Given the description of an element on the screen output the (x, y) to click on. 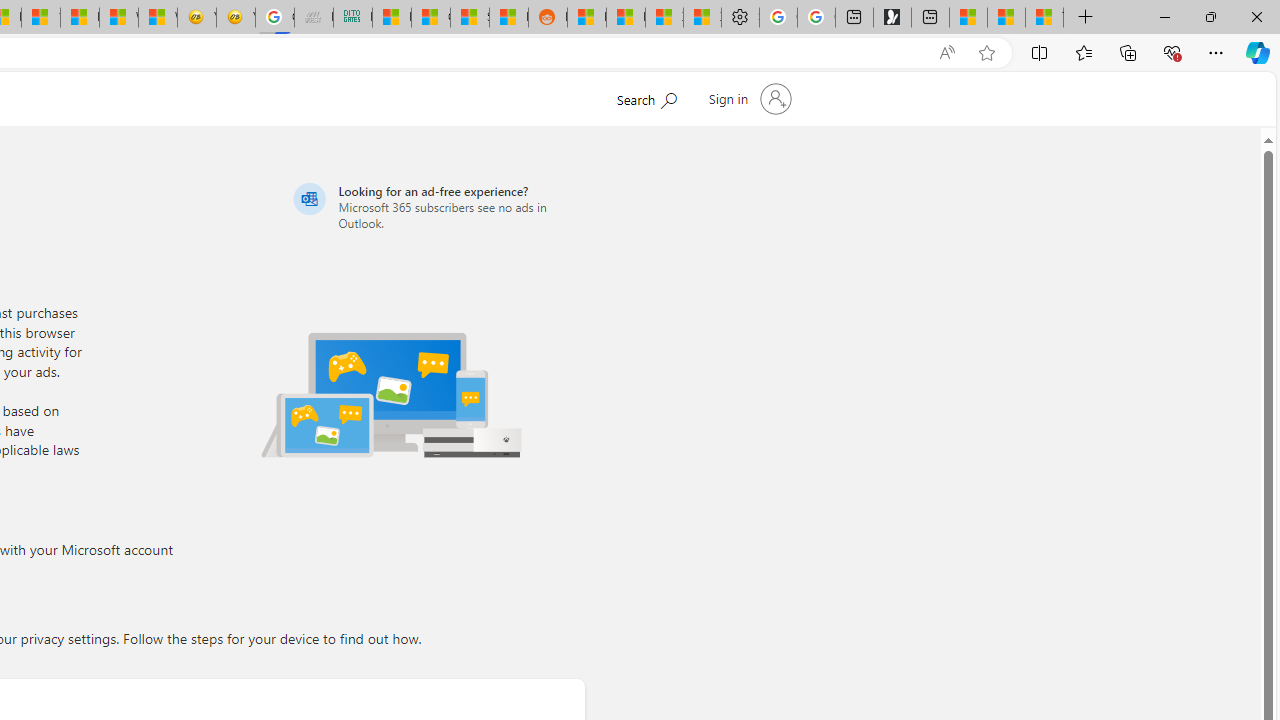
Fitness - MSN (79, 17)
Search Microsoft.com (646, 97)
Sign in to your account (748, 98)
14 Common Myths Debunked By Scientific Facts (40, 17)
